Given the description of an element on the screen output the (x, y) to click on. 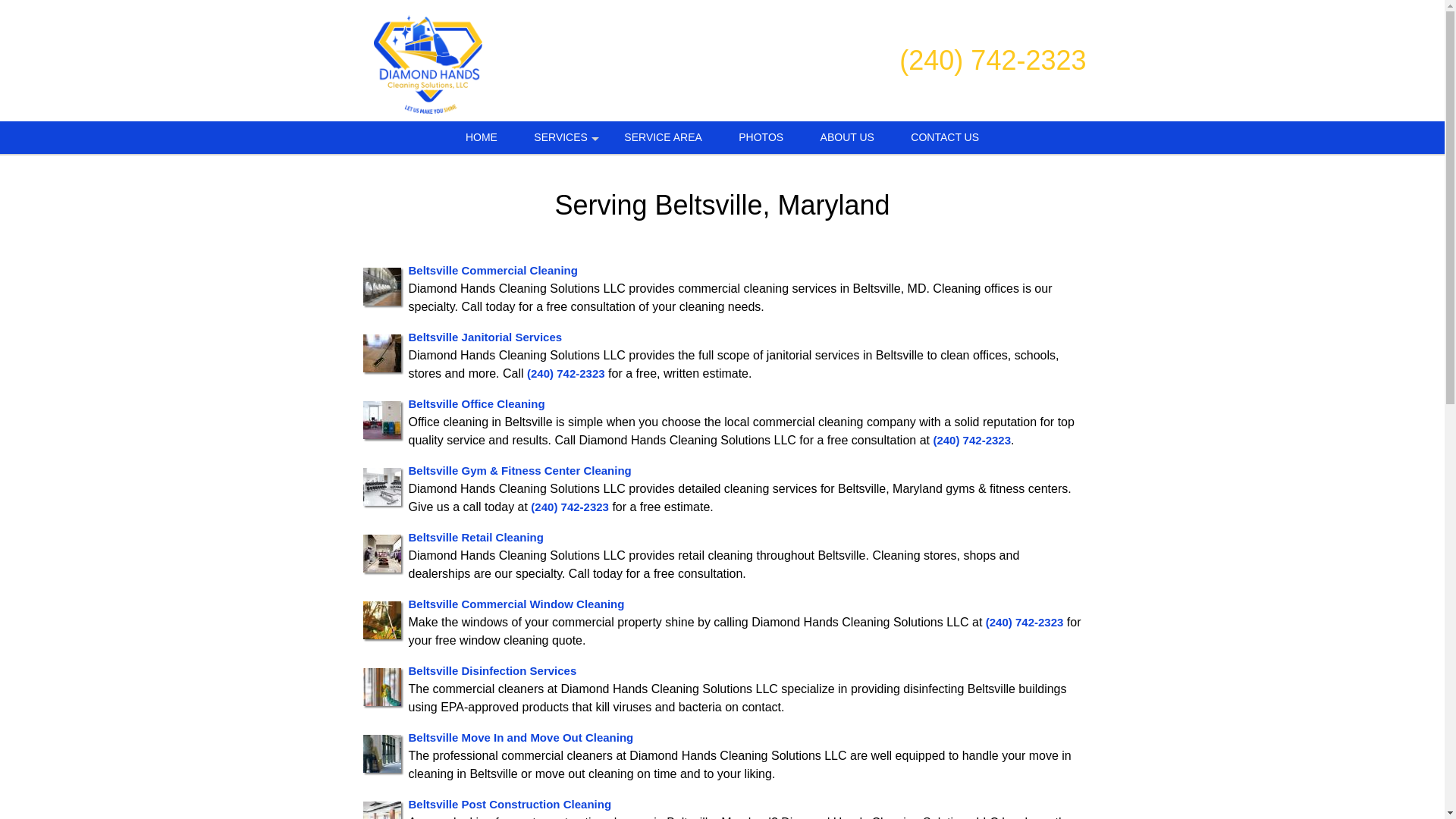
Beltsville Move In and Move Out Cleaning (520, 737)
Beltsville Commercial Cleaning (491, 269)
Beltsville Janitorial Services (484, 336)
HOME (480, 137)
Beltsville Retail Cleaning (475, 536)
CONTACT US (944, 137)
Beltsville Office Cleaning (475, 403)
PHOTOS (760, 137)
SERVICE AREA (662, 137)
Beltsville Commercial Window Cleaning (515, 603)
ABOUT US (847, 137)
Beltsville Disinfection Services (491, 670)
Beltsville Post Construction Cleaning (509, 803)
